Given the description of an element on the screen output the (x, y) to click on. 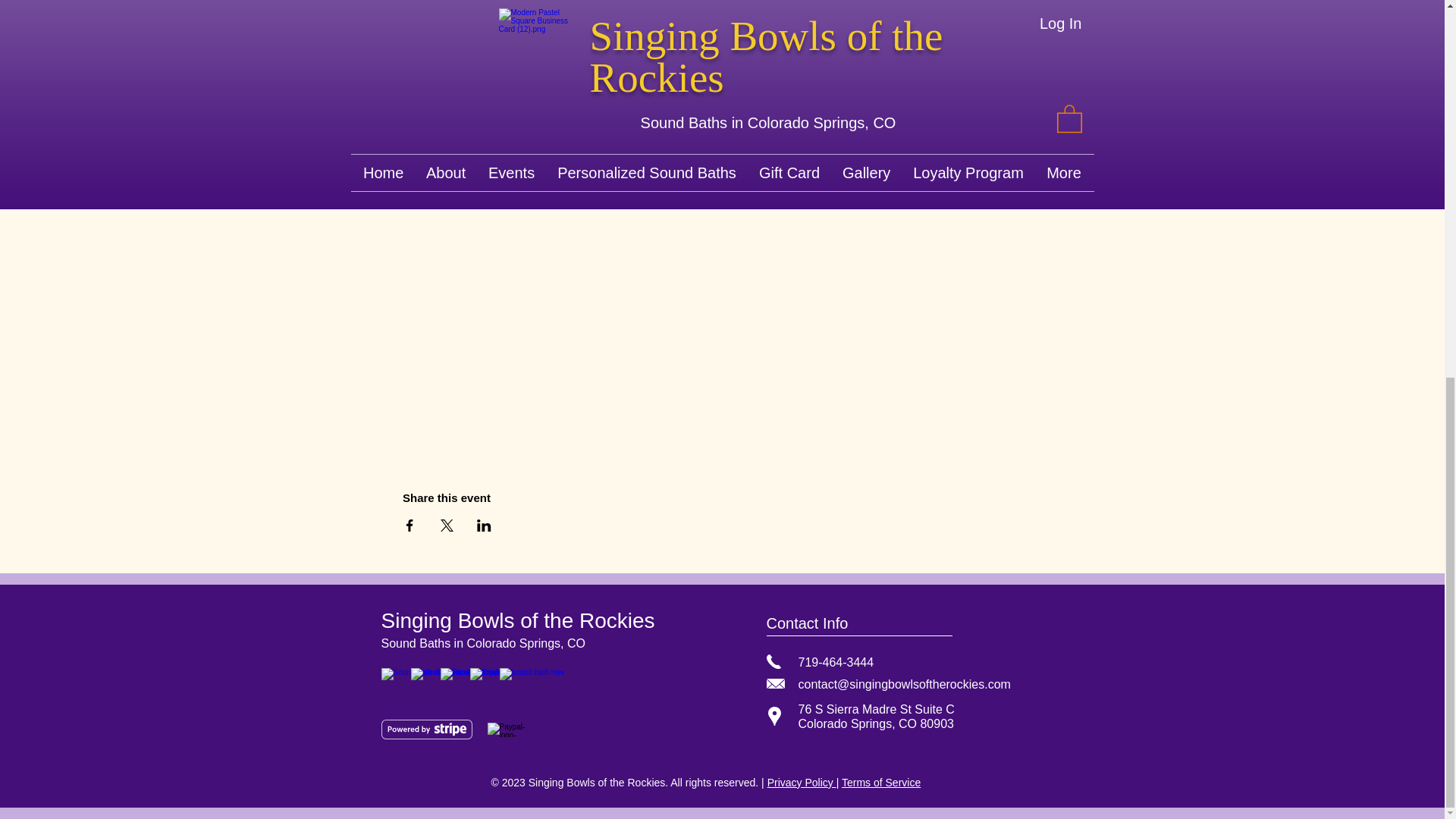
Privacy Policy  (801, 782)
Checkout (914, 126)
Terms of Service (880, 782)
